Given the description of an element on the screen output the (x, y) to click on. 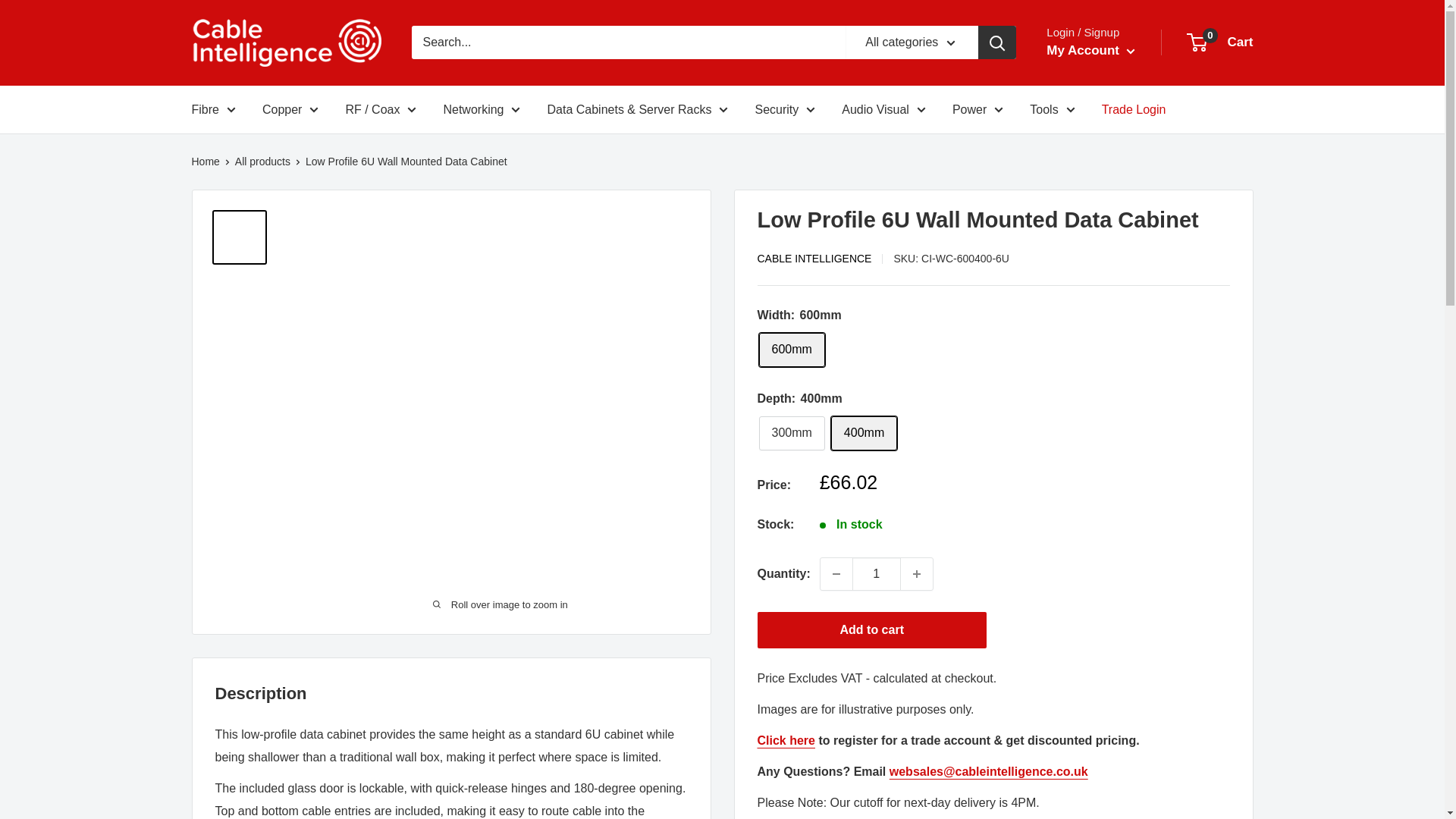
1 (876, 573)
300mm (791, 433)
Increase quantity by 1 (917, 573)
600mm (791, 349)
400mm (863, 433)
Decrease quantity by 1 (836, 573)
